Given the description of an element on the screen output the (x, y) to click on. 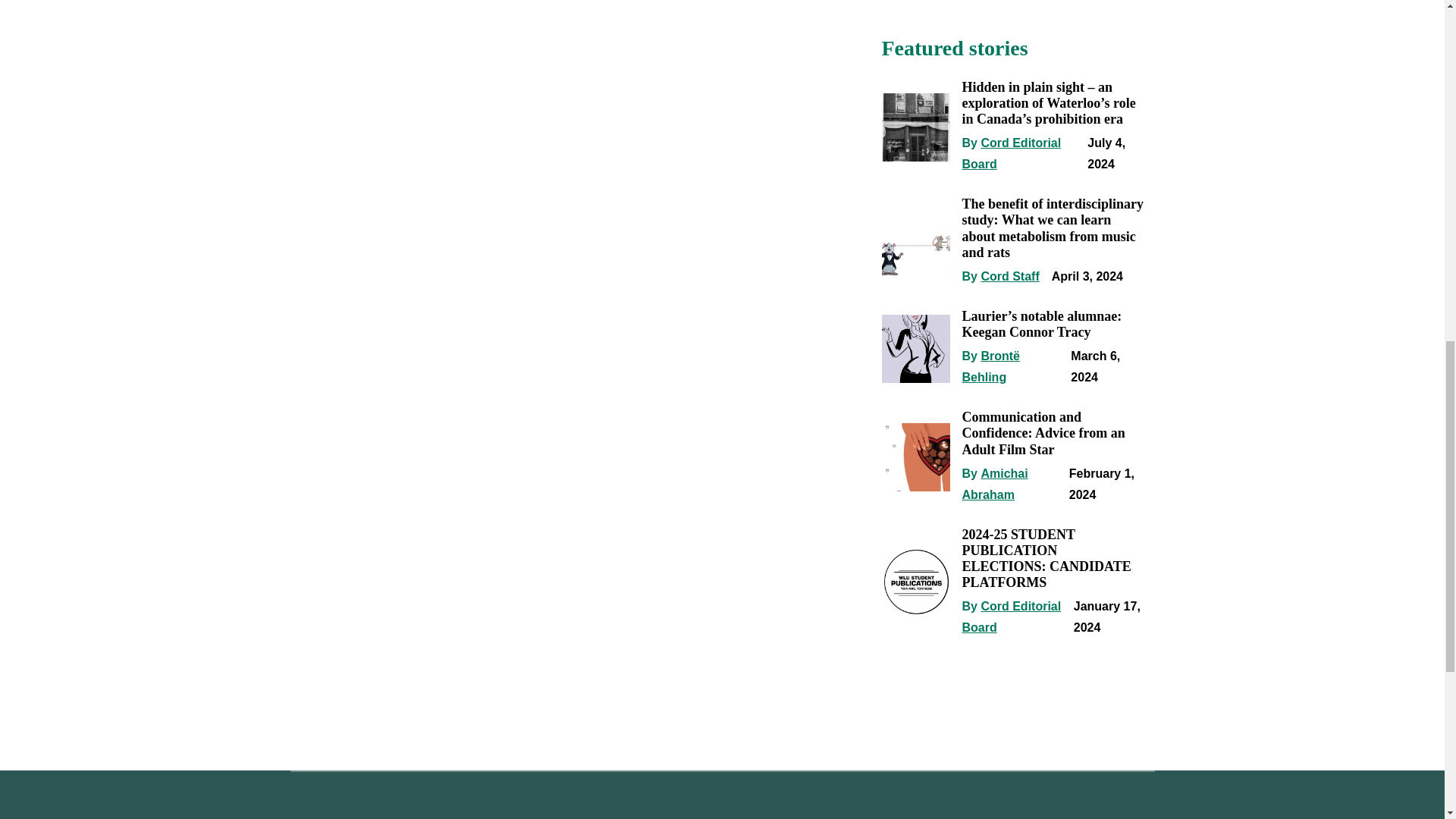
Posts by Cord Editorial Board (1010, 616)
Posts by Cord Editorial Board (1010, 153)
Posts by Cord Staff (1009, 276)
Posts by Amichai Abraham (993, 483)
